Given the description of an element on the screen output the (x, y) to click on. 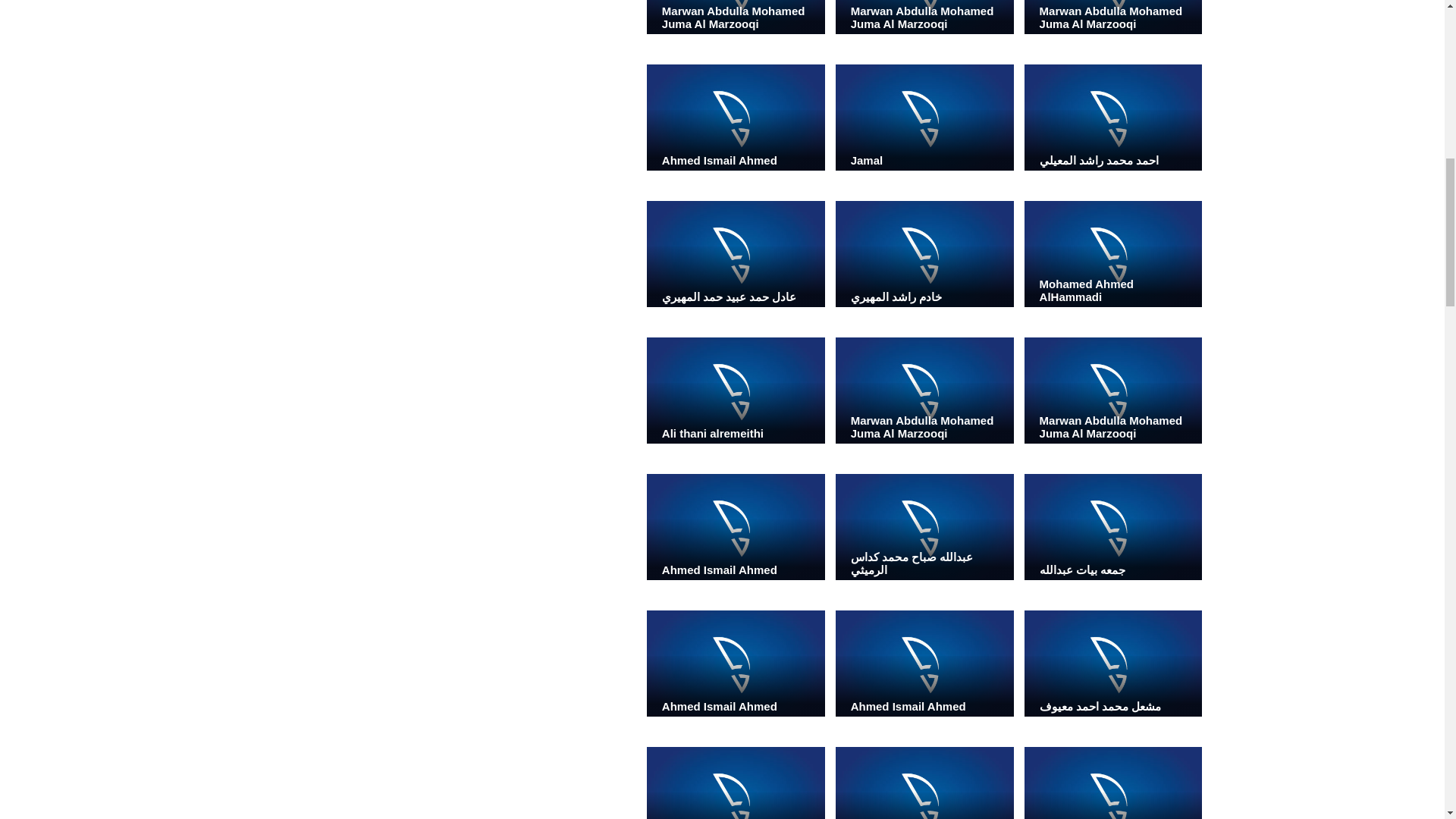
Marwan Abdulla Mohamed Juma Al Marzooqi (735, 17)
Ahmed Ismail Ahmed (735, 526)
Marwan Abdulla Mohamed Juma Al Marzooqi (924, 17)
Jamal (924, 117)
Marwan Abdulla Mohamed Juma Al Marzooqi (1113, 17)
Marwan Abdulla Mohamed Juma Al Marzooqi (1113, 390)
Marwan Abdulla Mohamed Juma Al Marzooqi (924, 390)
Ahmed Ismail Ahmed (735, 117)
Ali thani alremeithi (735, 390)
Mohamed Ahmed AlHammadi (1113, 253)
